Given the description of an element on the screen output the (x, y) to click on. 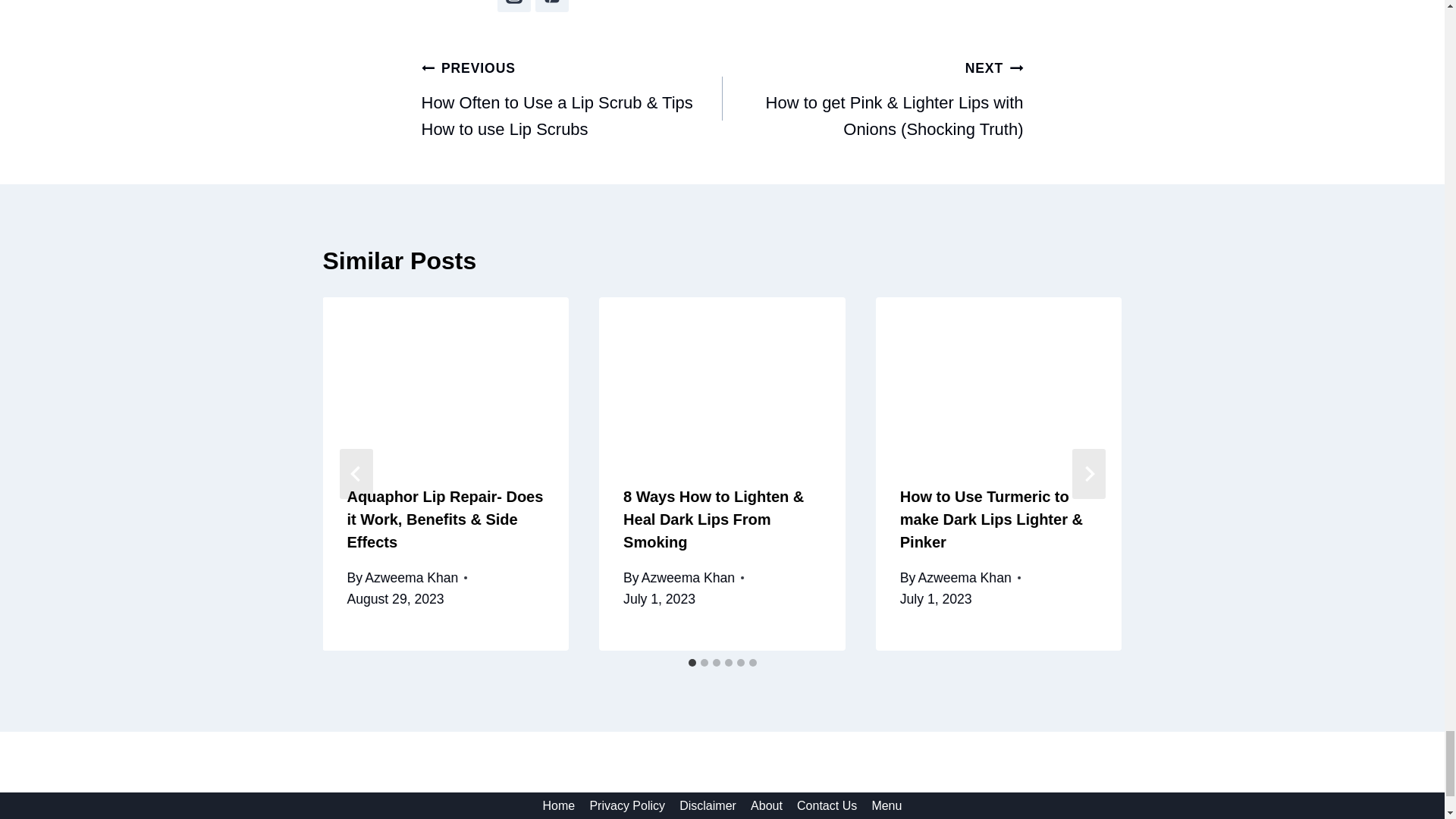
Follow Azweema Khan on Instagram (514, 6)
Follow Azweema Khan on Pinterest (552, 6)
